Given the description of an element on the screen output the (x, y) to click on. 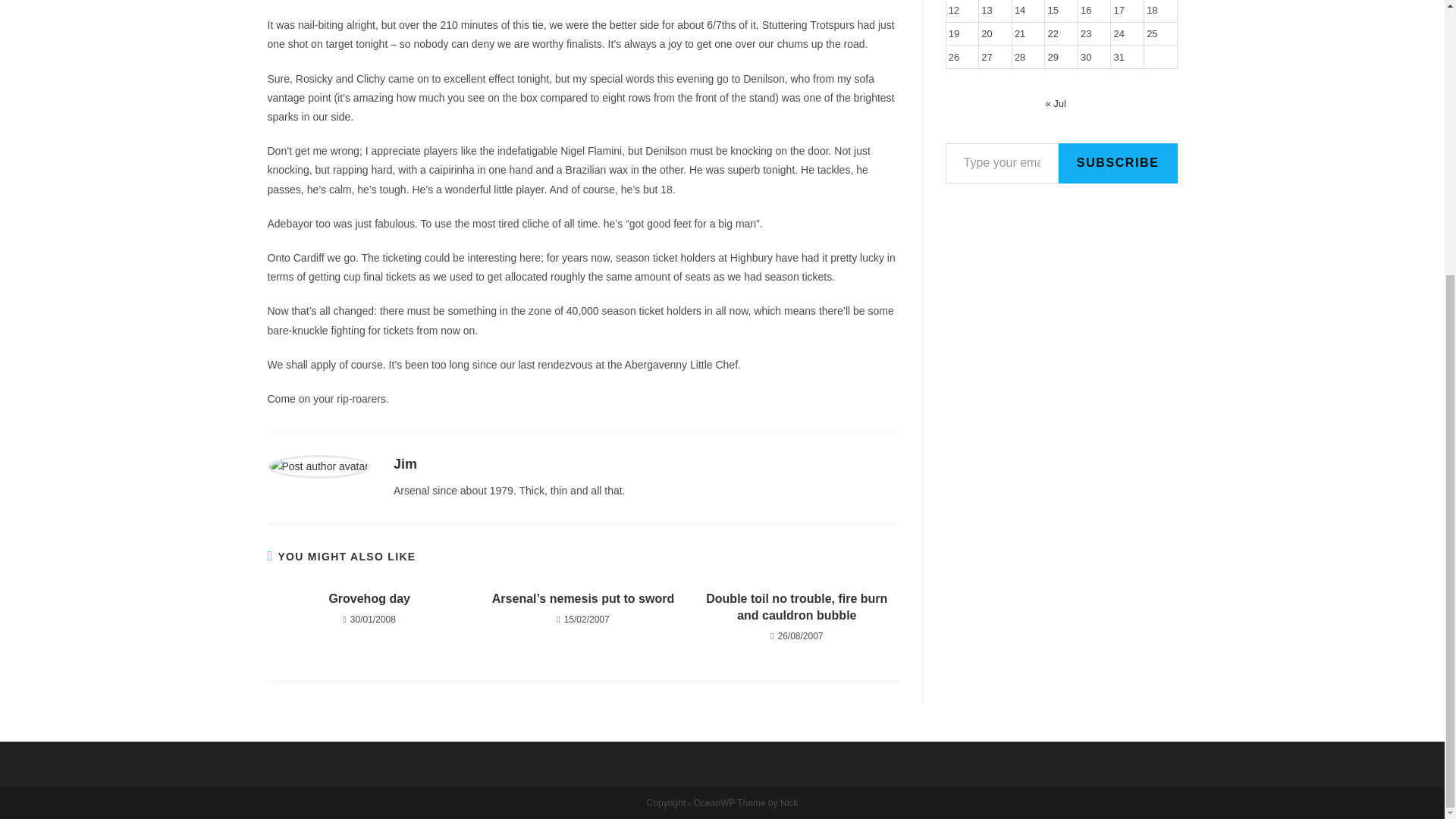
SUBSCRIBE (1117, 163)
Grovehog day (368, 598)
Double toil no trouble, fire burn and cauldron bubble (796, 607)
Visit author page (404, 463)
Visit author page (317, 465)
Jim (404, 463)
